Given the description of an element on the screen output the (x, y) to click on. 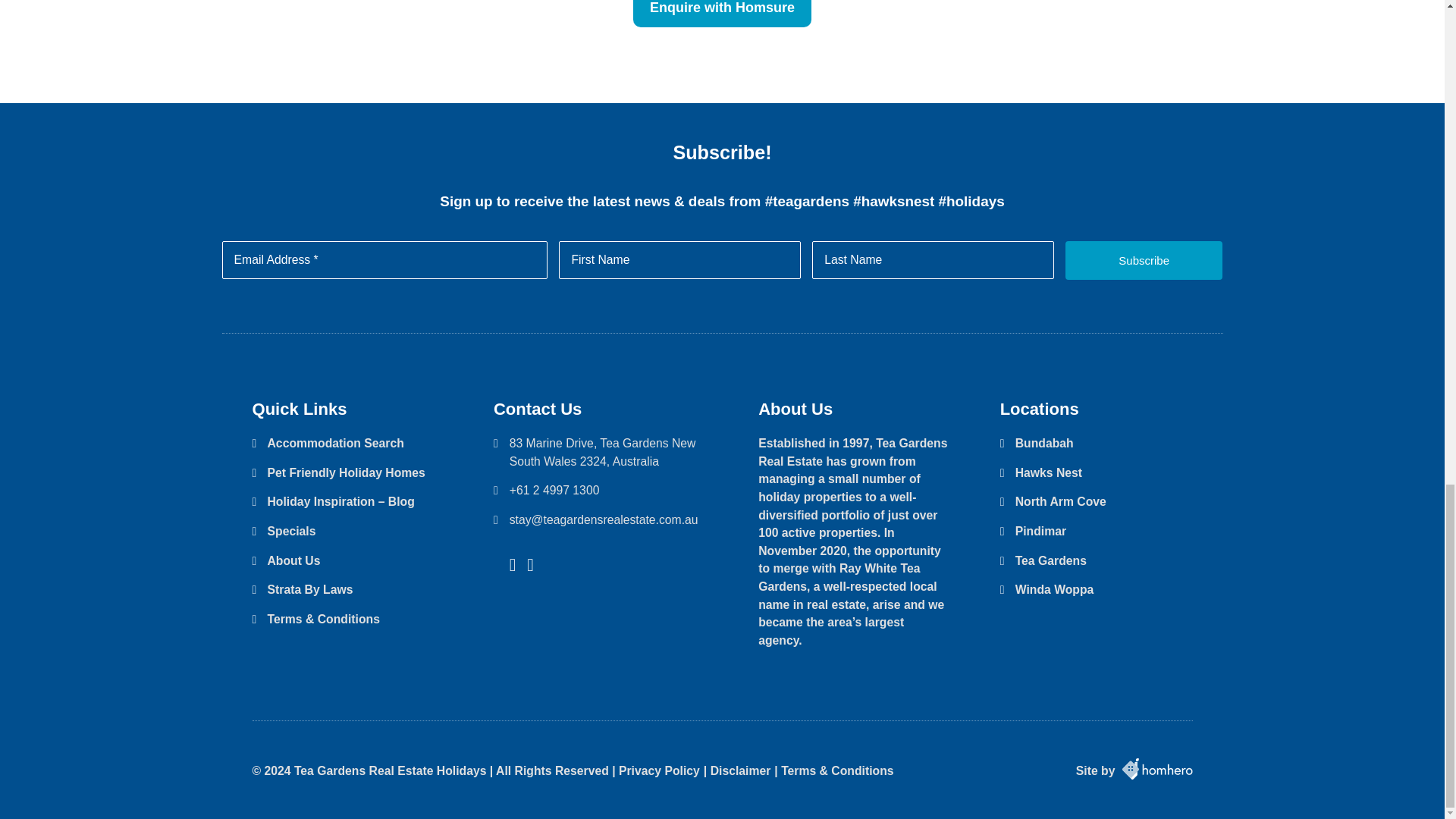
Subscribe (1144, 260)
